Given the description of an element on the screen output the (x, y) to click on. 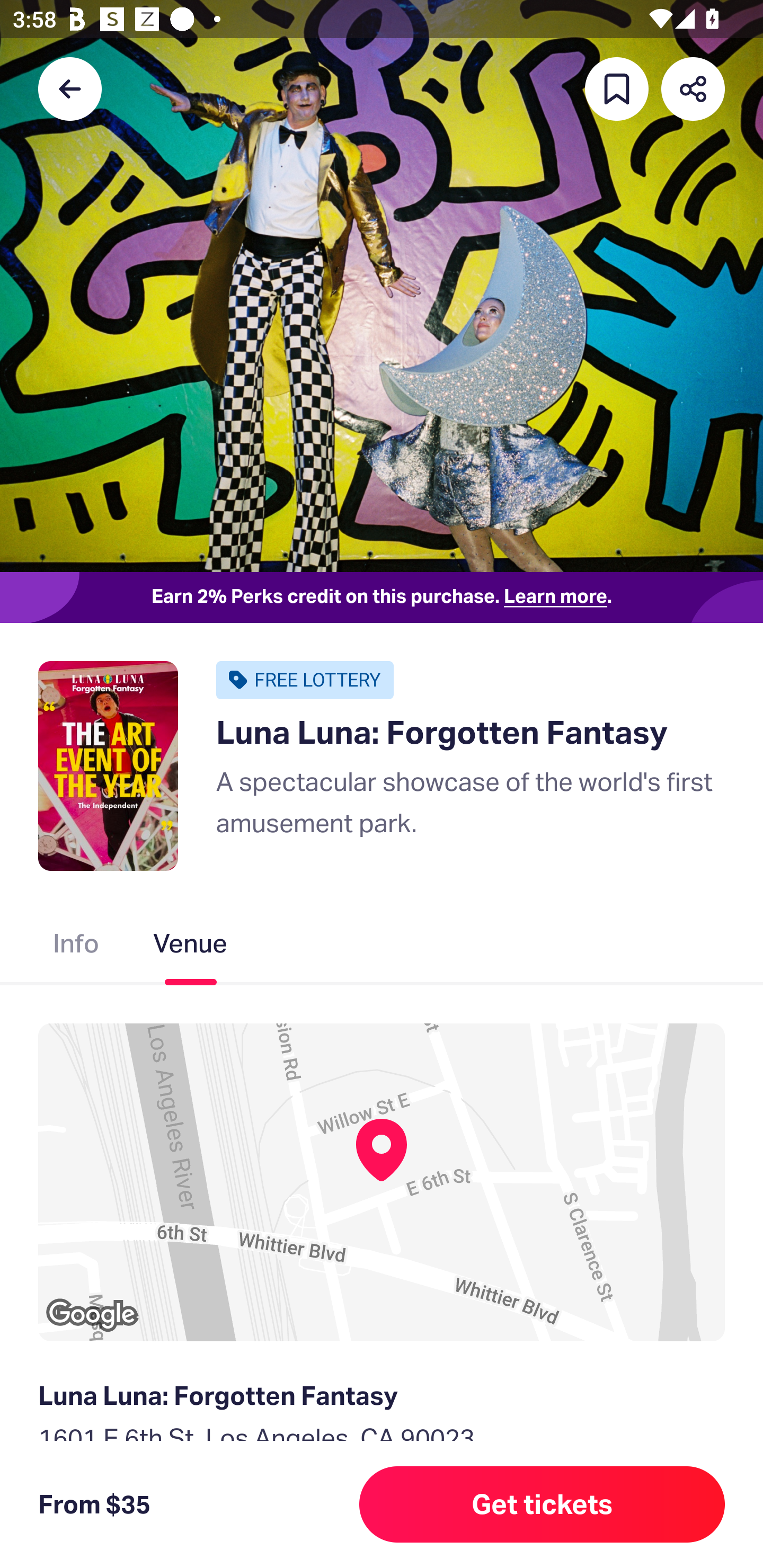
Earn 2% Perks credit on this purchase. Learn more. (381, 597)
Info (76, 946)
Google Map Luna Luna: Forgotten Fantasy.  (381, 1181)
Get tickets (541, 1504)
Get directions (381, 1530)
